Given the description of an element on the screen output the (x, y) to click on. 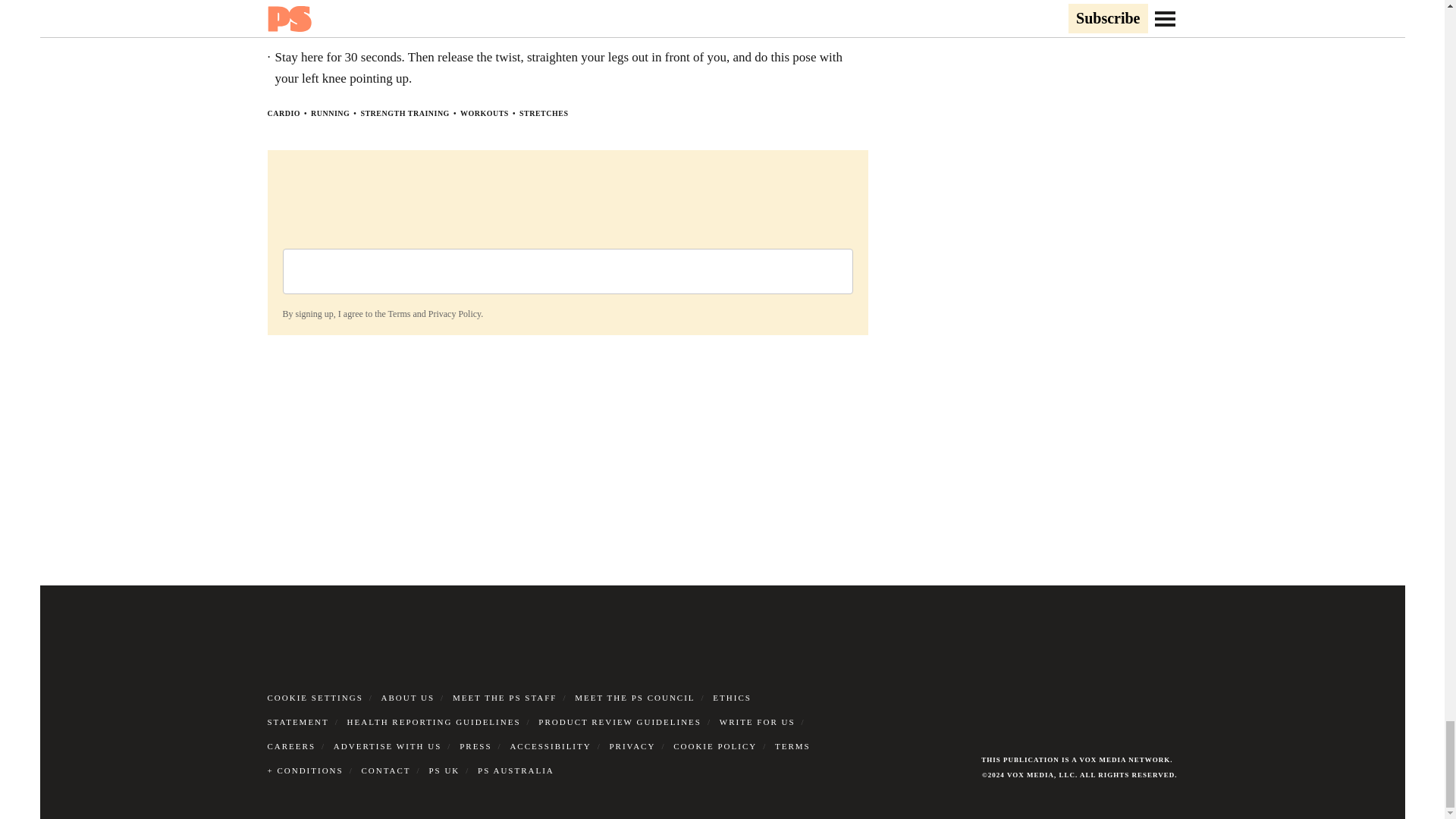
ABOUT US (408, 697)
WORKOUTS (484, 112)
CAREERS (290, 746)
ETHICS STATEMENT (508, 709)
WRITE FOR US (756, 721)
STRENGTH TRAINING (404, 112)
ADVERTISE WITH US (387, 746)
HEALTH REPORTING GUIDELINES (434, 721)
Privacy Policy. (455, 313)
PRESS (476, 746)
